Given the description of an element on the screen output the (x, y) to click on. 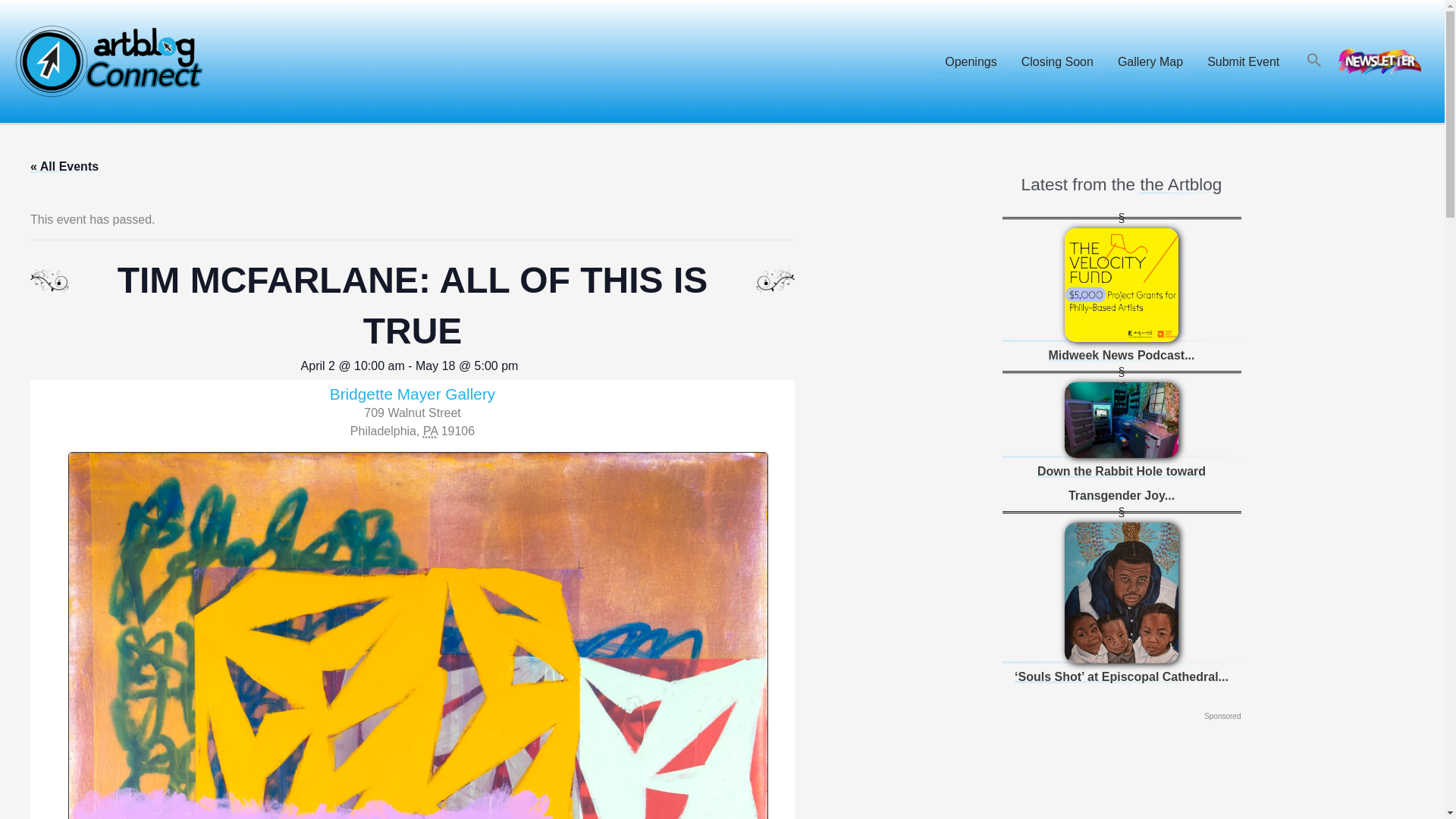
Down the Rabbit Hole toward Transgender Joy... (1120, 483)
the Artblog (1180, 184)
Openings (971, 60)
Closing Soon (1057, 60)
Gallery Map (1150, 60)
3rd party ad content (1120, 772)
Submit Event (1243, 60)
Midweek News Podcast... (1121, 354)
